Given the description of an element on the screen output the (x, y) to click on. 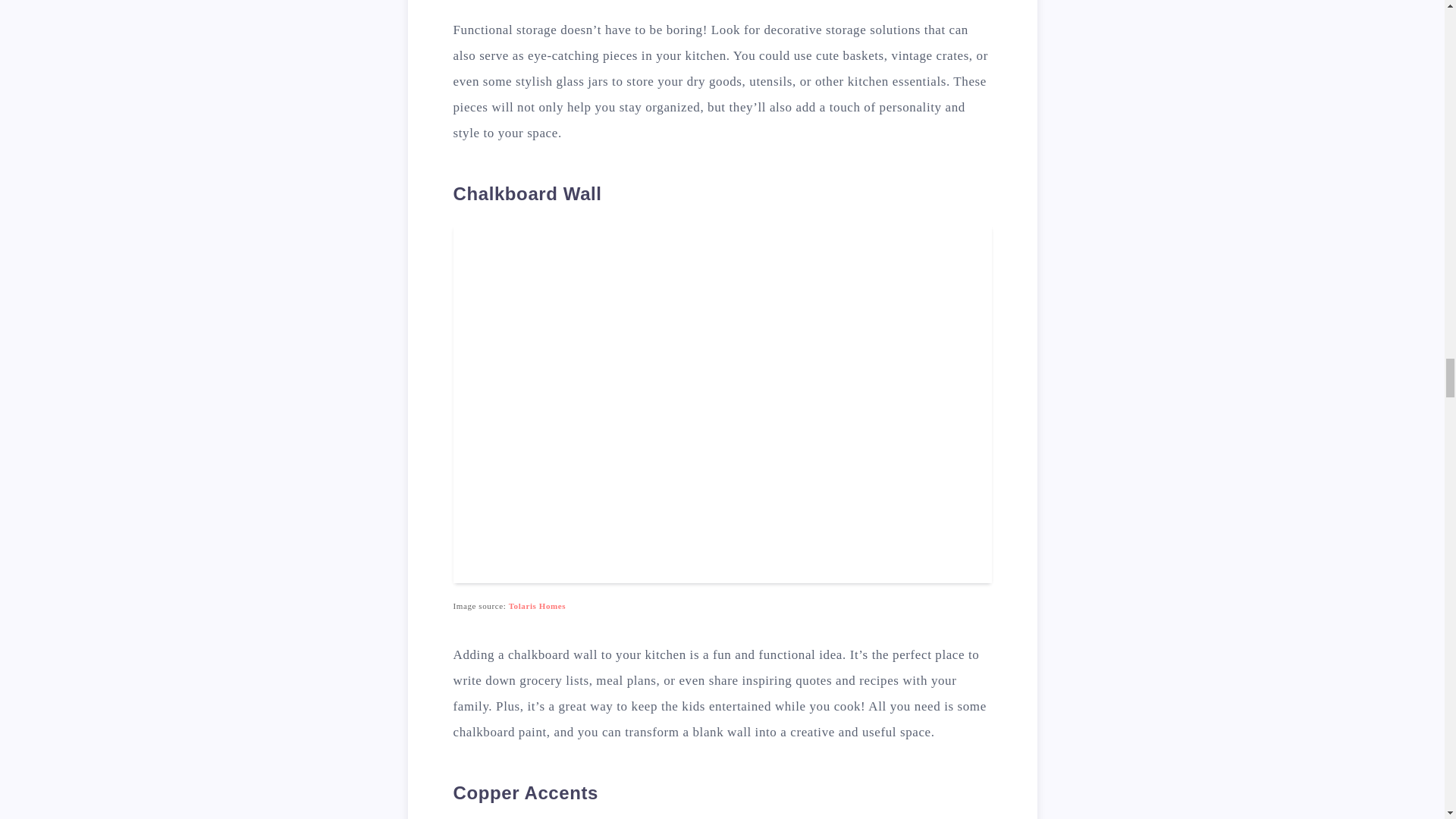
Tolaris Homes (537, 605)
